Given the description of an element on the screen output the (x, y) to click on. 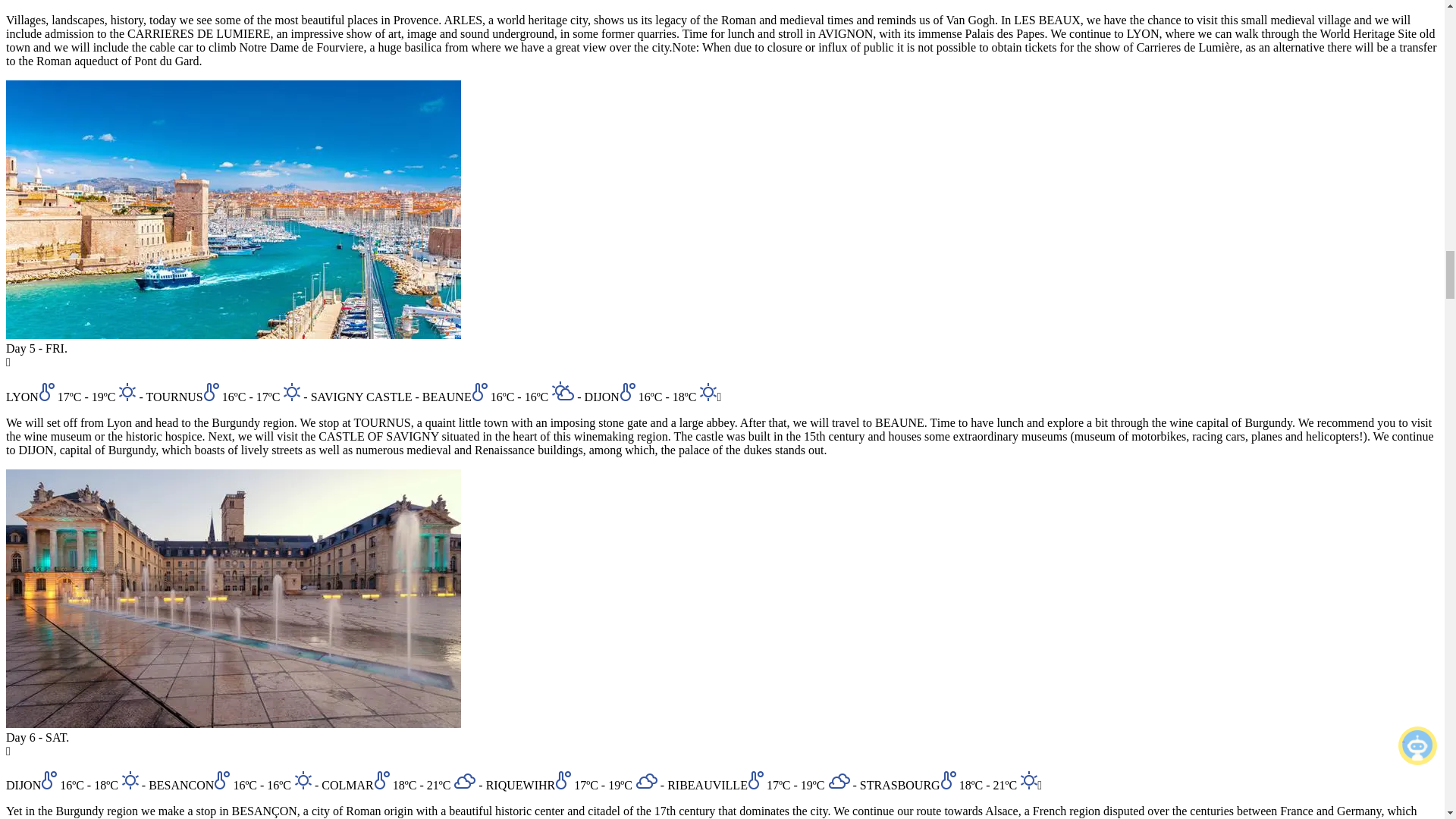
broken clouds (464, 781)
clear sky (126, 391)
clear sky (129, 779)
clear sky (302, 779)
clear sky (290, 391)
few clouds (562, 391)
clear sky (707, 391)
